Given the description of an element on the screen output the (x, y) to click on. 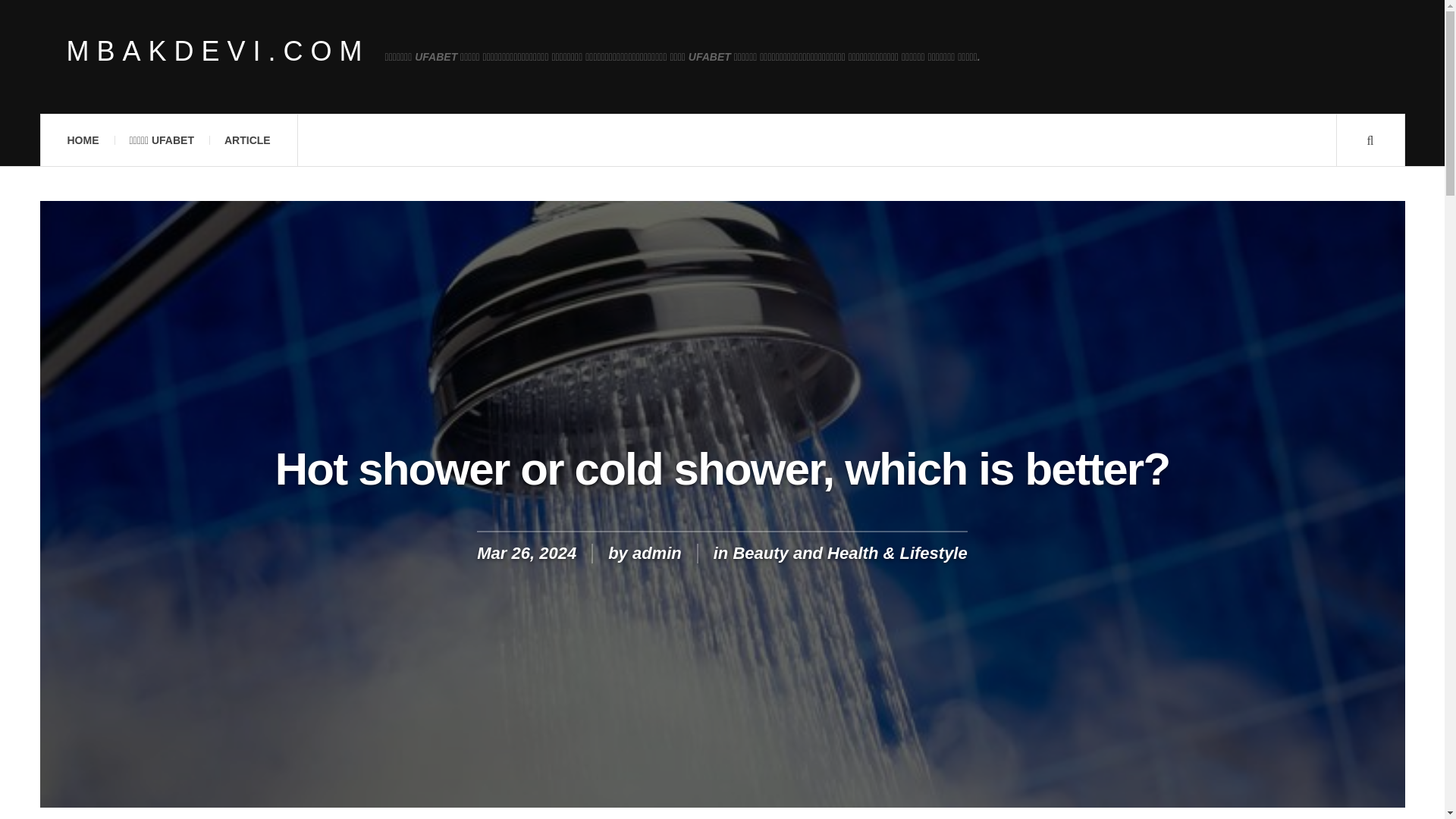
mbakdevi.com (217, 51)
admin (656, 552)
ARTICLE (247, 140)
HOME (81, 140)
MBAKDEVI.COM (217, 51)
